Given the description of an element on the screen output the (x, y) to click on. 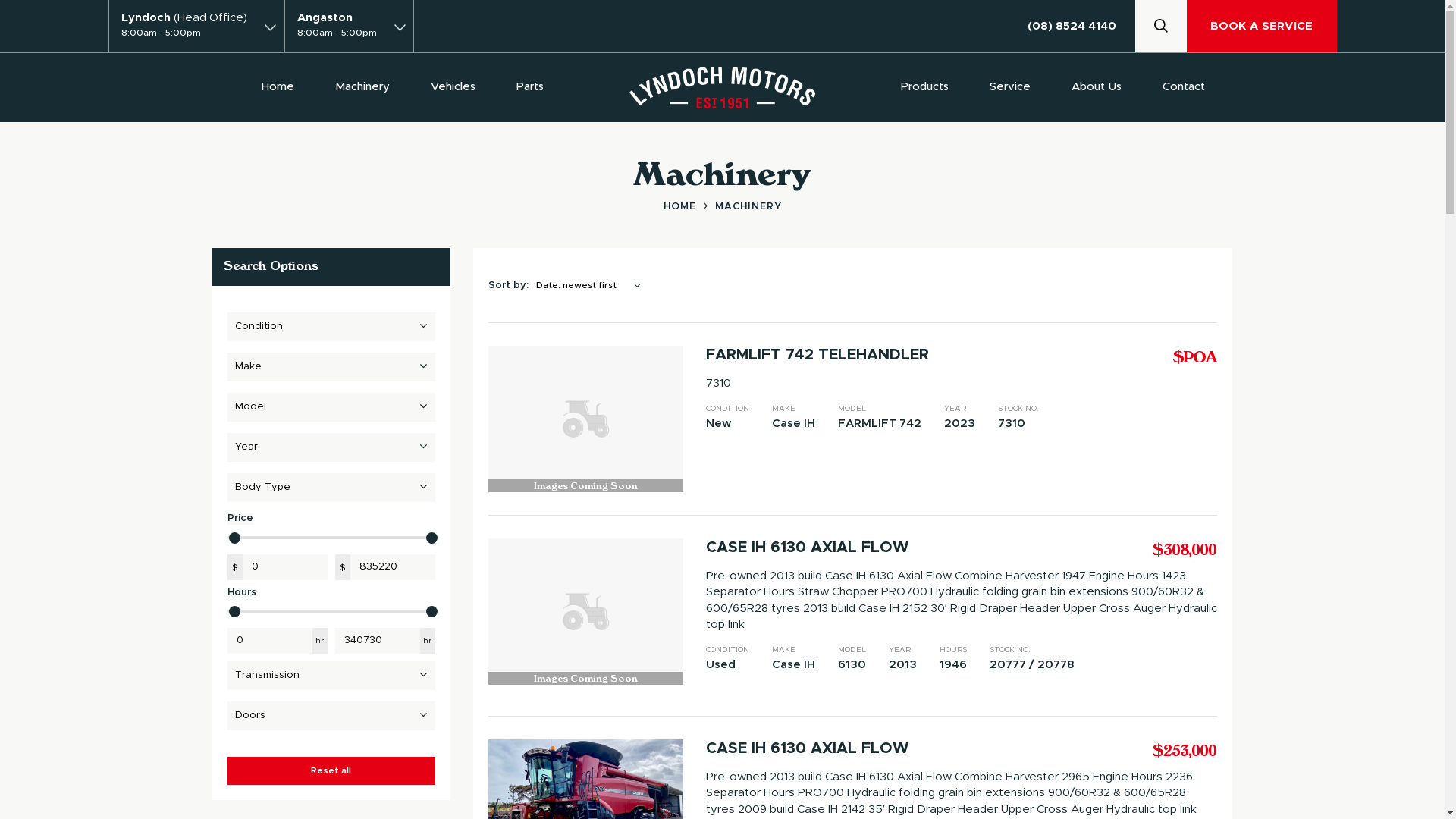
HOME Element type: text (688, 206)
BOOK A SERVICE Element type: text (1261, 26)
Vehicles Element type: text (452, 86)
Parts Element type: text (529, 86)
Reset all Element type: text (331, 770)
Images Coming Soon Element type: text (585, 418)
About Us Element type: text (1096, 86)
Contact Element type: text (1183, 86)
Machinery Element type: text (362, 86)
CASE IH 6130 AXIAL FLOW Element type: text (838, 748)
Service Element type: text (1009, 86)
CASE IH 6130 AXIAL FLOW Element type: text (838, 547)
FARMLIFT 742 TELEHANDLER Element type: text (838, 354)
Products Element type: text (924, 86)
Images Coming Soon Element type: text (585, 611)
Home Element type: text (277, 86)
(08) 8524 4140 Element type: text (1081, 26)
